Given the description of an element on the screen output the (x, y) to click on. 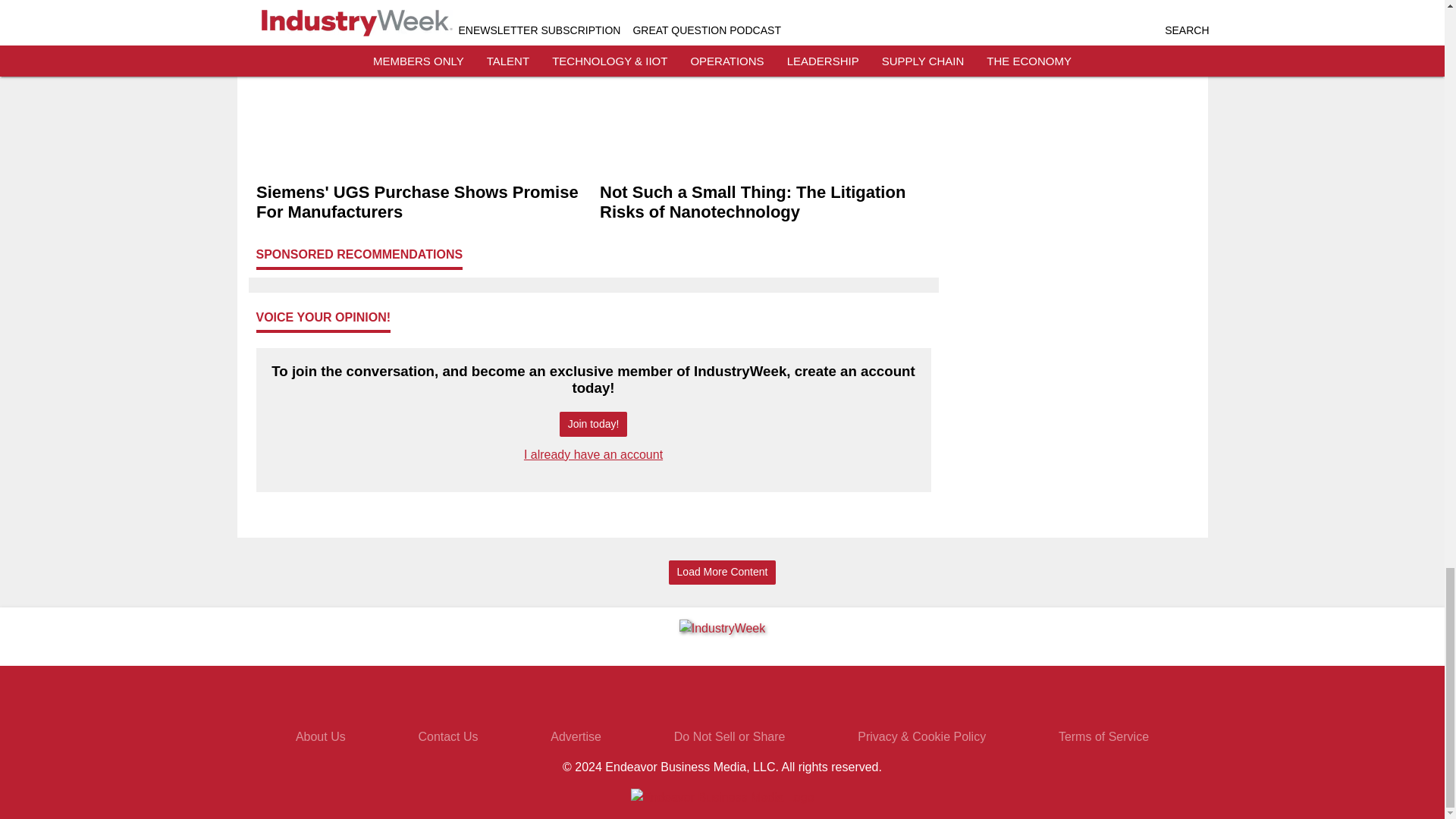
I already have an account (593, 454)
Siemens' UGS Purchase Shows Promise For Manufacturers (422, 201)
Join today! (593, 423)
